Given the description of an element on the screen output the (x, y) to click on. 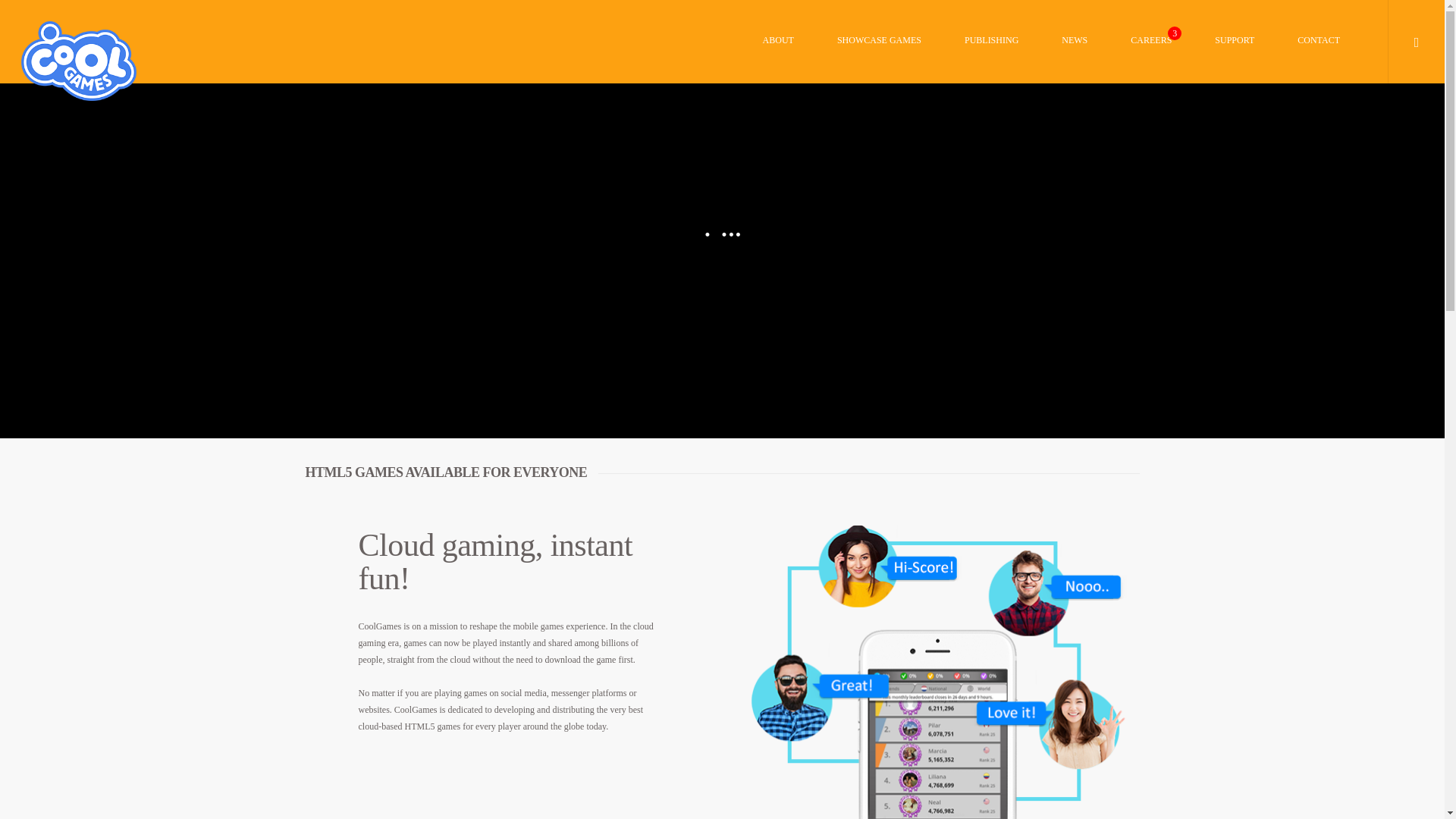
SHOWCASE GAMES (879, 60)
PUBLISHING (991, 60)
